Given the description of an element on the screen output the (x, y) to click on. 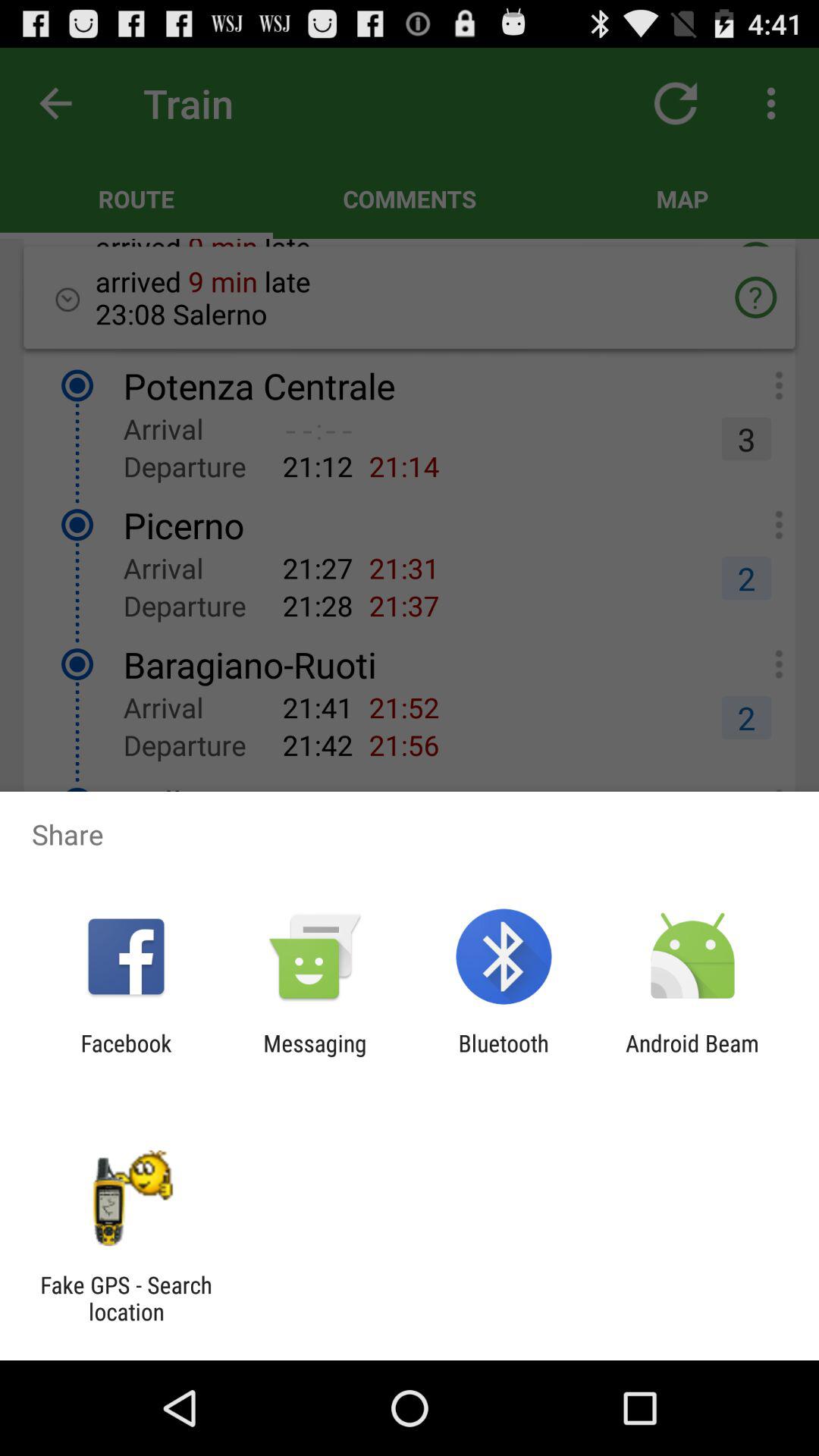
turn off item to the left of messaging app (125, 1056)
